Given the description of an element on the screen output the (x, y) to click on. 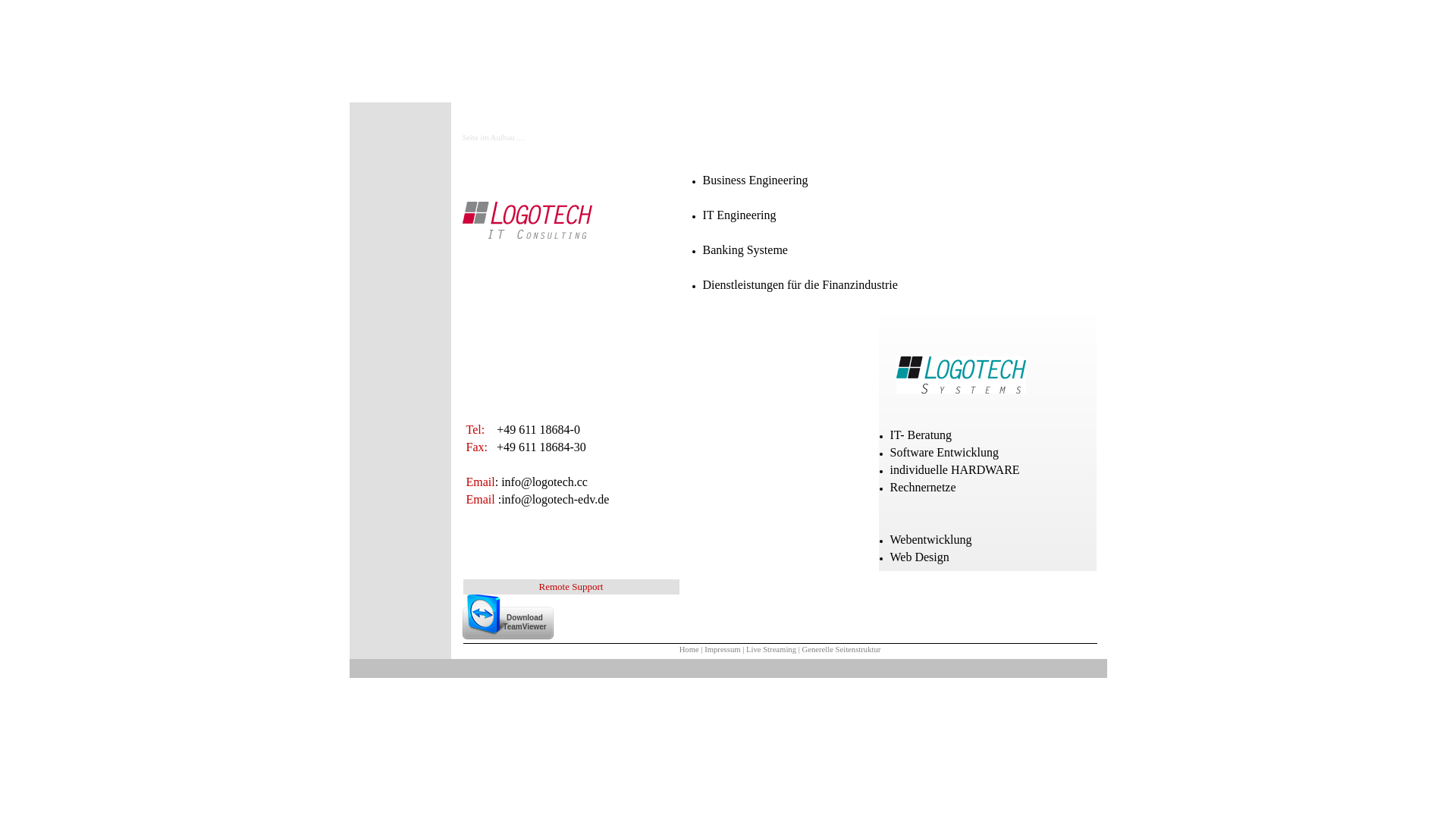
Download TeamViewer Element type: text (507, 631)
Impressum Element type: text (722, 649)
Home Element type: text (689, 649)
Download TeamViewer QuickSupport Element type: hover (507, 616)
Live Streaming Element type: text (771, 649)
Generelle Seitenstruktur Element type: text (840, 649)
